Given the description of an element on the screen output the (x, y) to click on. 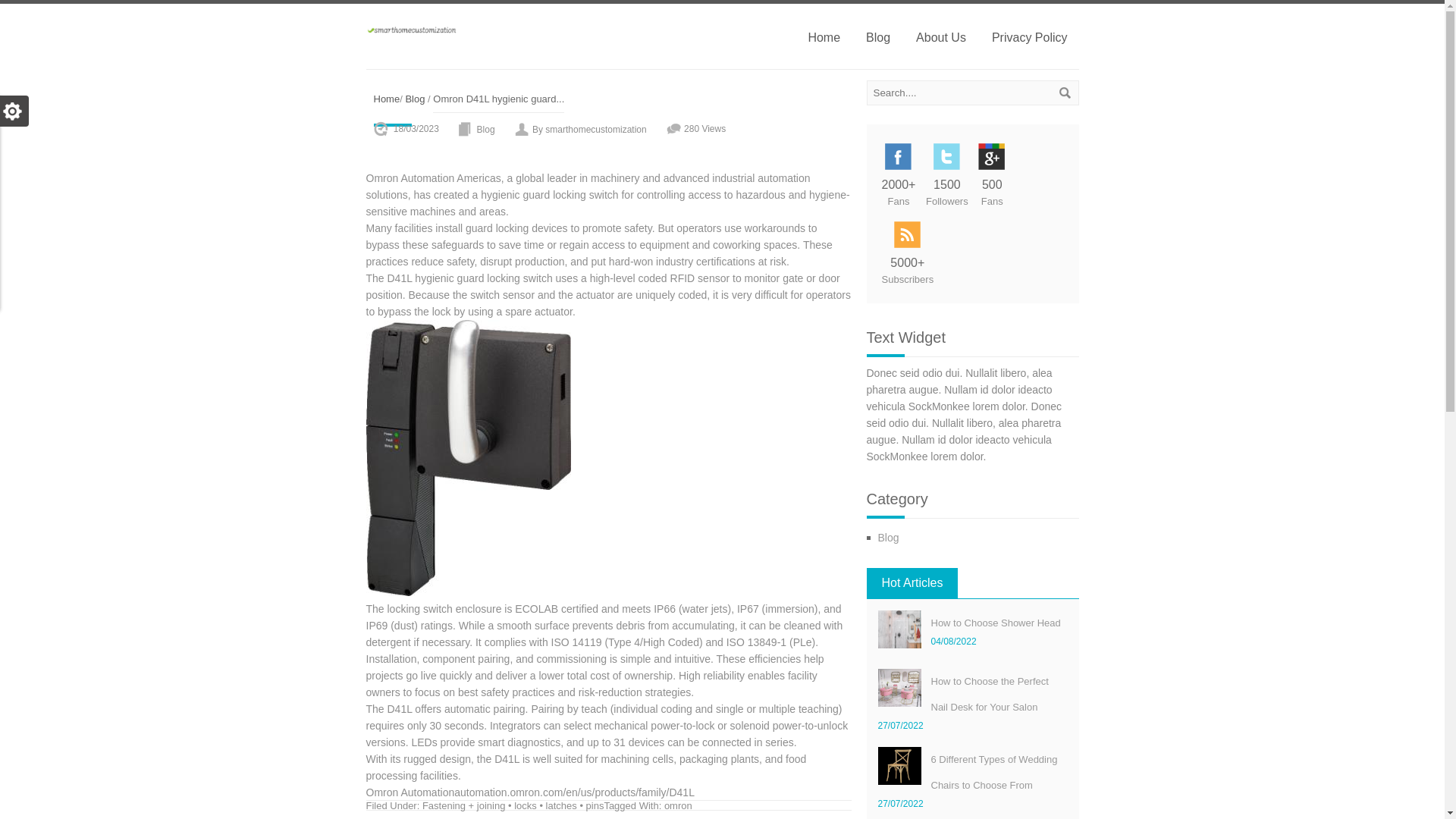
How to Choose the Perfect Nail Desk for Your Salon (899, 687)
About Us (940, 36)
Privacy Policy (1028, 36)
Blog (414, 98)
How to Choose the Perfect Nail Desk for Your Salon (989, 693)
How to Choose Shower Head (996, 622)
How to Choose Shower Head (996, 622)
Home (385, 98)
smarthomecustomization (411, 29)
Privacy Policy (1028, 36)
Blog (888, 537)
6 Different Types of Wedding Chairs to Choose From (994, 772)
6 Different Types of Wedding Chairs to Choose From (994, 772)
About Us (940, 36)
Blog (486, 128)
